Given the description of an element on the screen output the (x, y) to click on. 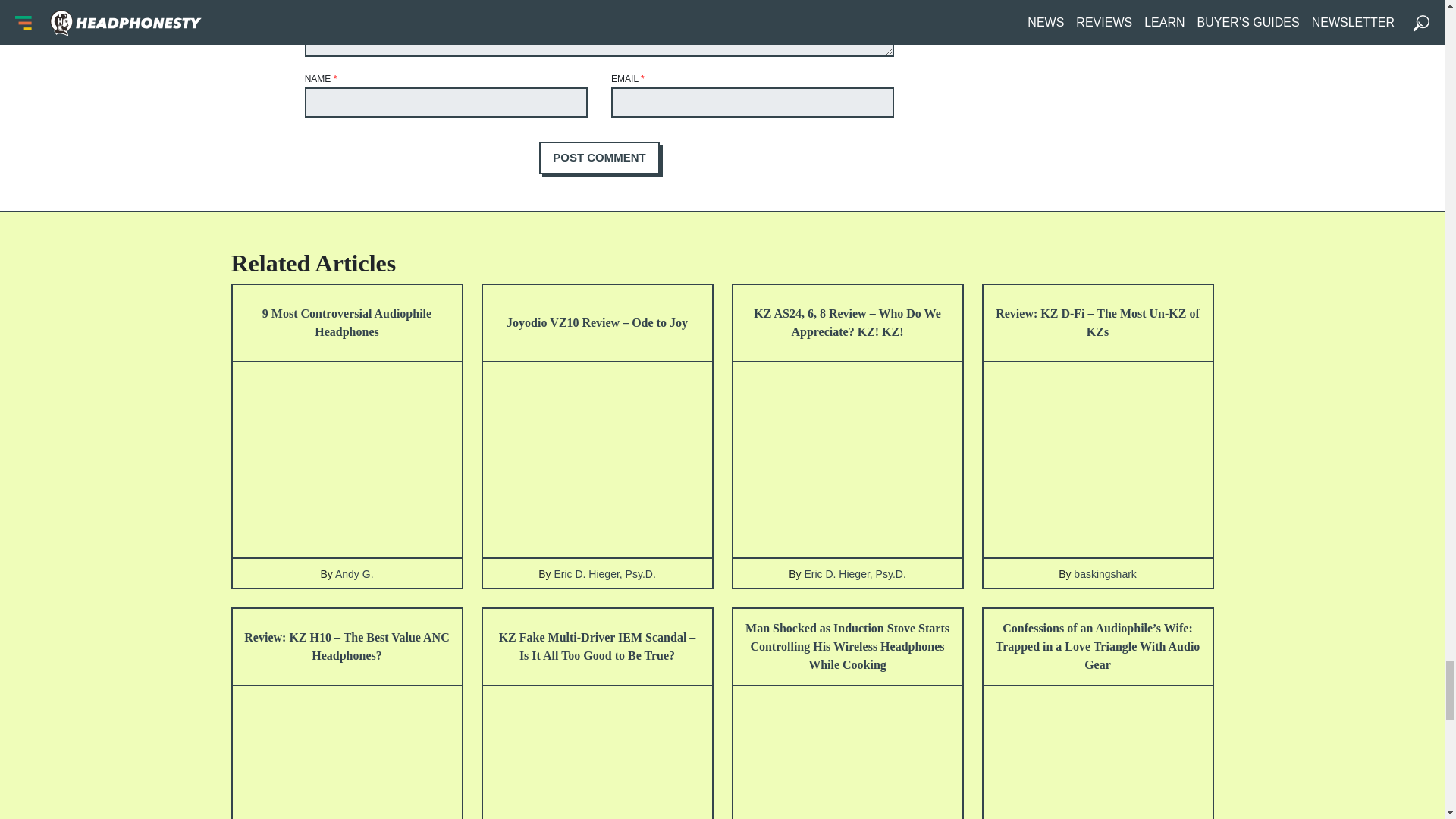
9 Most Controversial Audiophile Headphones (346, 323)
Post Comment (598, 157)
